Given the description of an element on the screen output the (x, y) to click on. 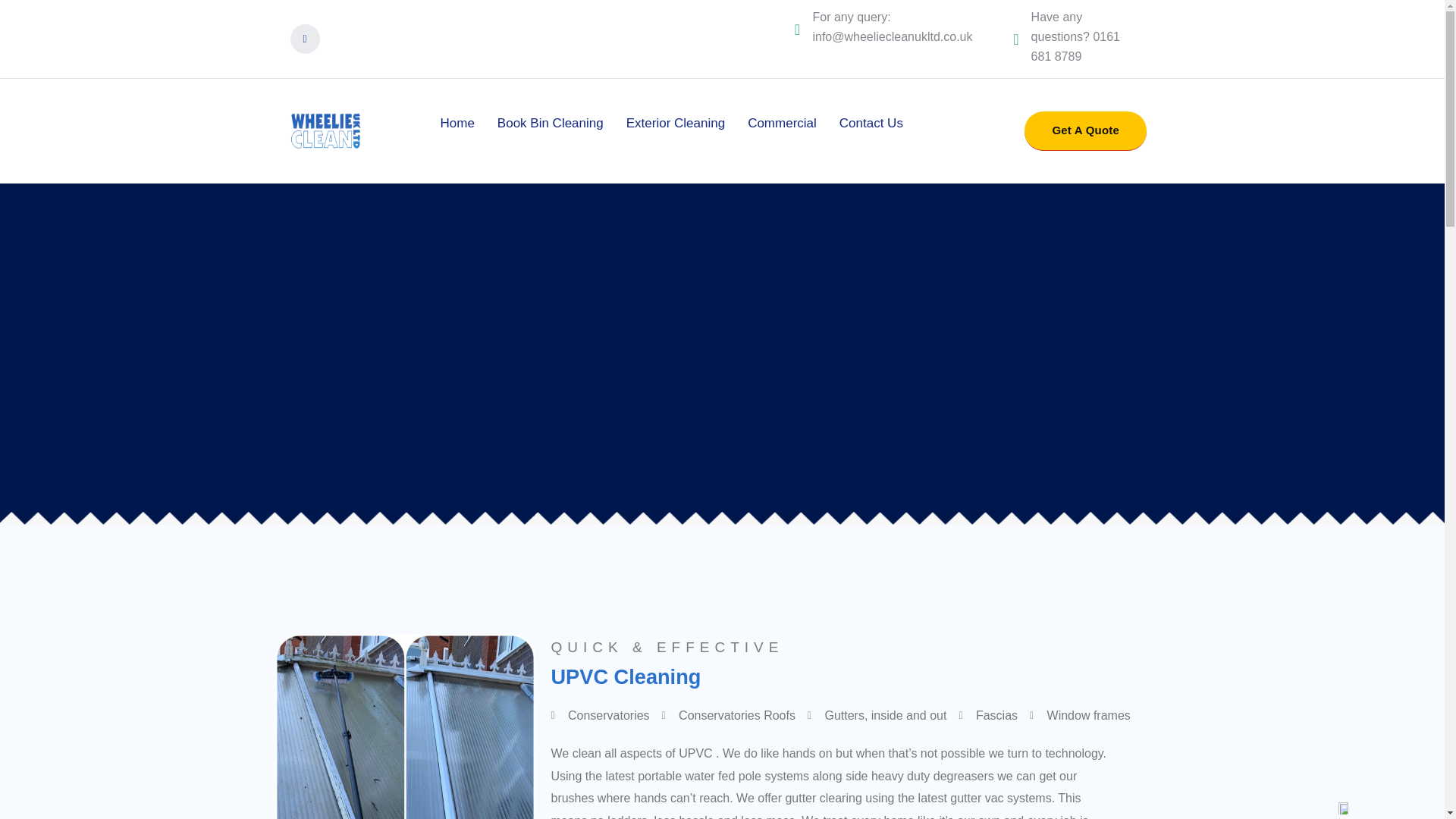
Book Bin Cleaning (550, 123)
Commercial (781, 123)
Facebook-f (303, 39)
Exterior Cleaning (675, 123)
Have any questions? 0161 681 8789 (1074, 36)
